Given the description of an element on the screen output the (x, y) to click on. 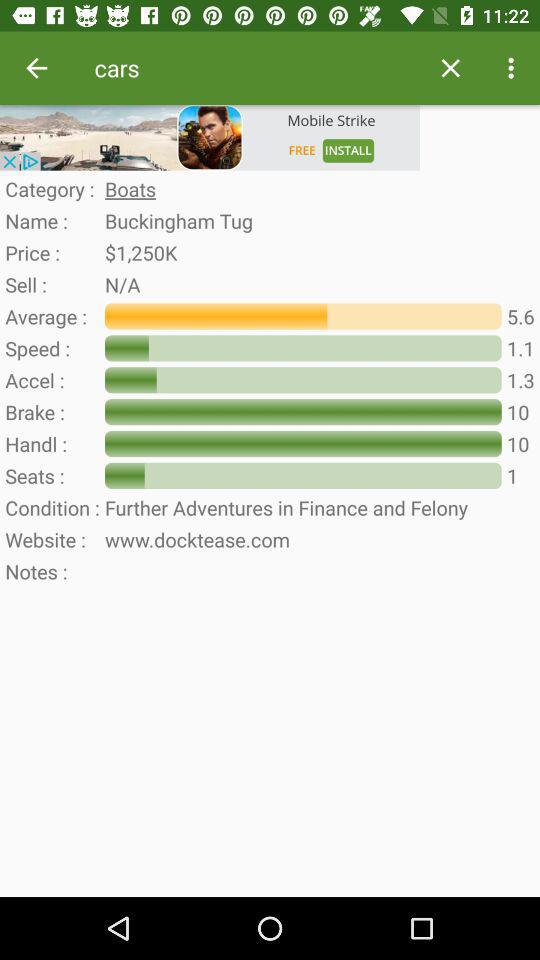
advertisement bar (210, 137)
